Given the description of an element on the screen output the (x, y) to click on. 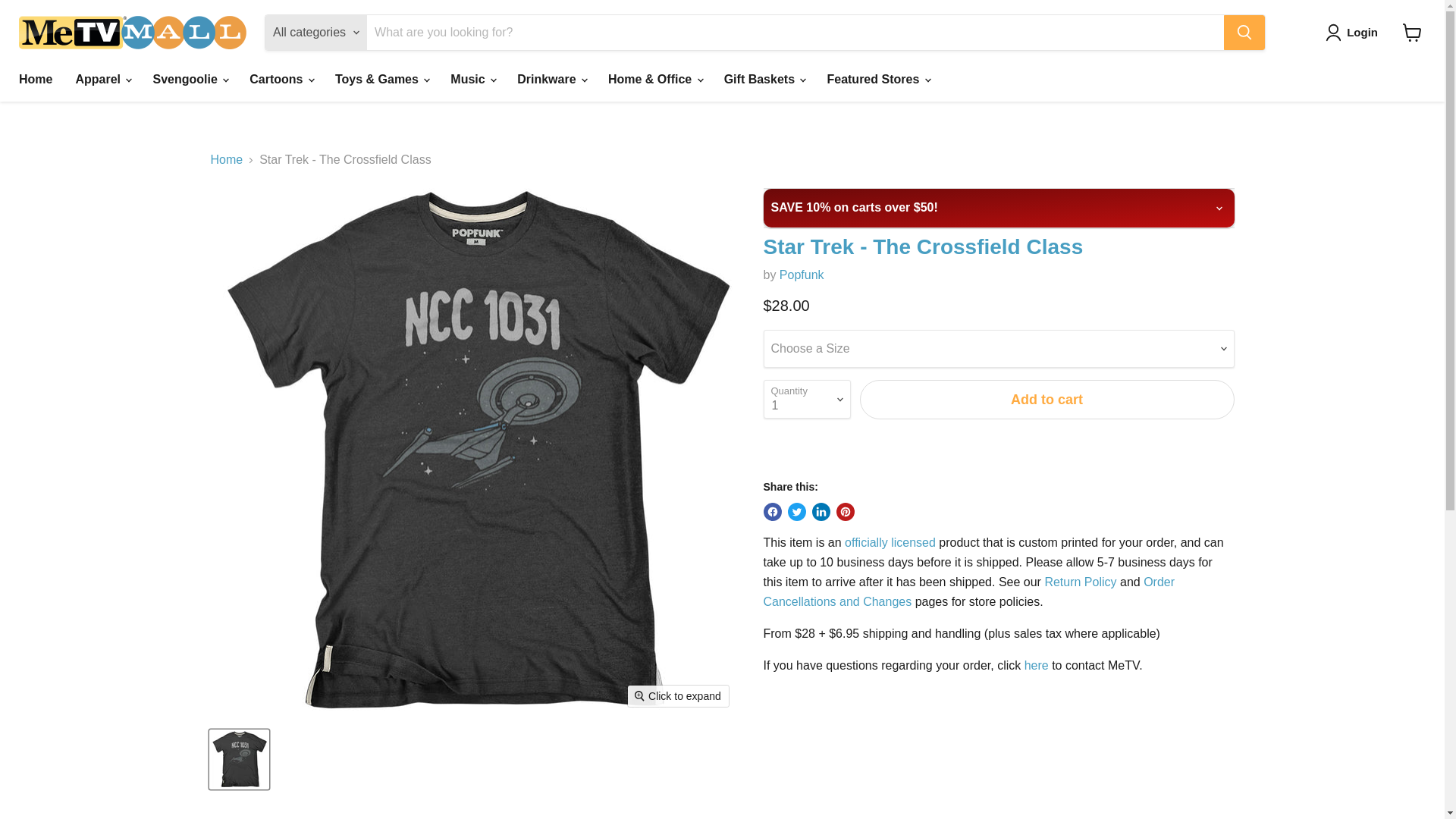
Home (35, 79)
Popfunk (801, 274)
View cart (1411, 32)
Login (1354, 32)
